Given the description of an element on the screen output the (x, y) to click on. 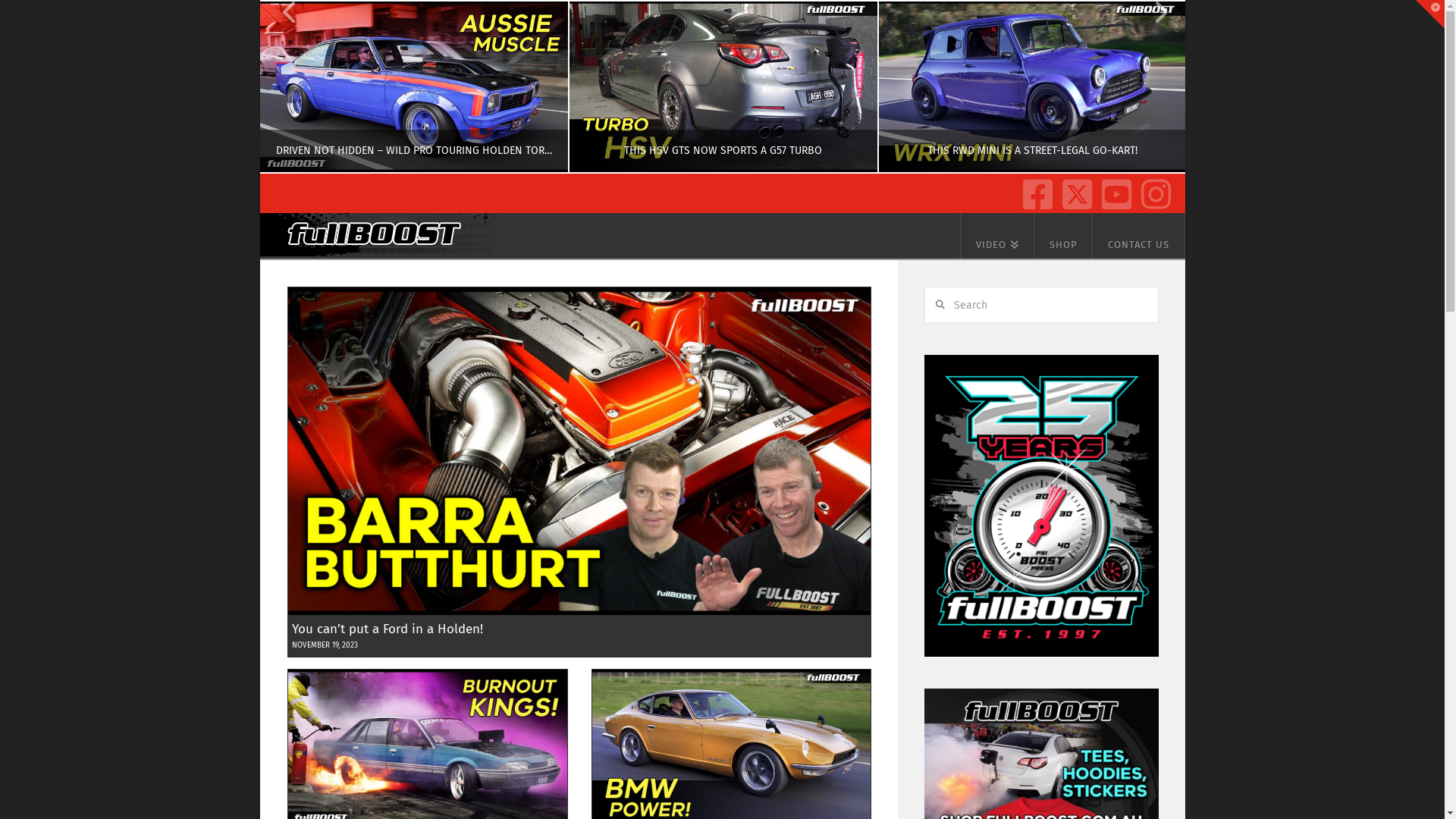
CONTACT US Element type: text (1138, 235)
THIS RWD MINI IS A STREET-LEGAL GO-KART! Element type: text (1031, 86)
SHOP Element type: text (1063, 235)
X / Twitter Element type: hover (1073, 190)
YouTube Element type: hover (1113, 190)
Previous Element type: text (289, 86)
Facebook Element type: hover (1034, 190)
VIDEO Element type: text (997, 235)
Next Element type: text (1152, 86)
Toggle the Widgetbar Element type: text (1429, 14)
THIS HSV GTS NOW SPORTS A G57 TURBO Element type: text (721, 86)
Instagram Element type: hover (1152, 190)
